Given the description of an element on the screen output the (x, y) to click on. 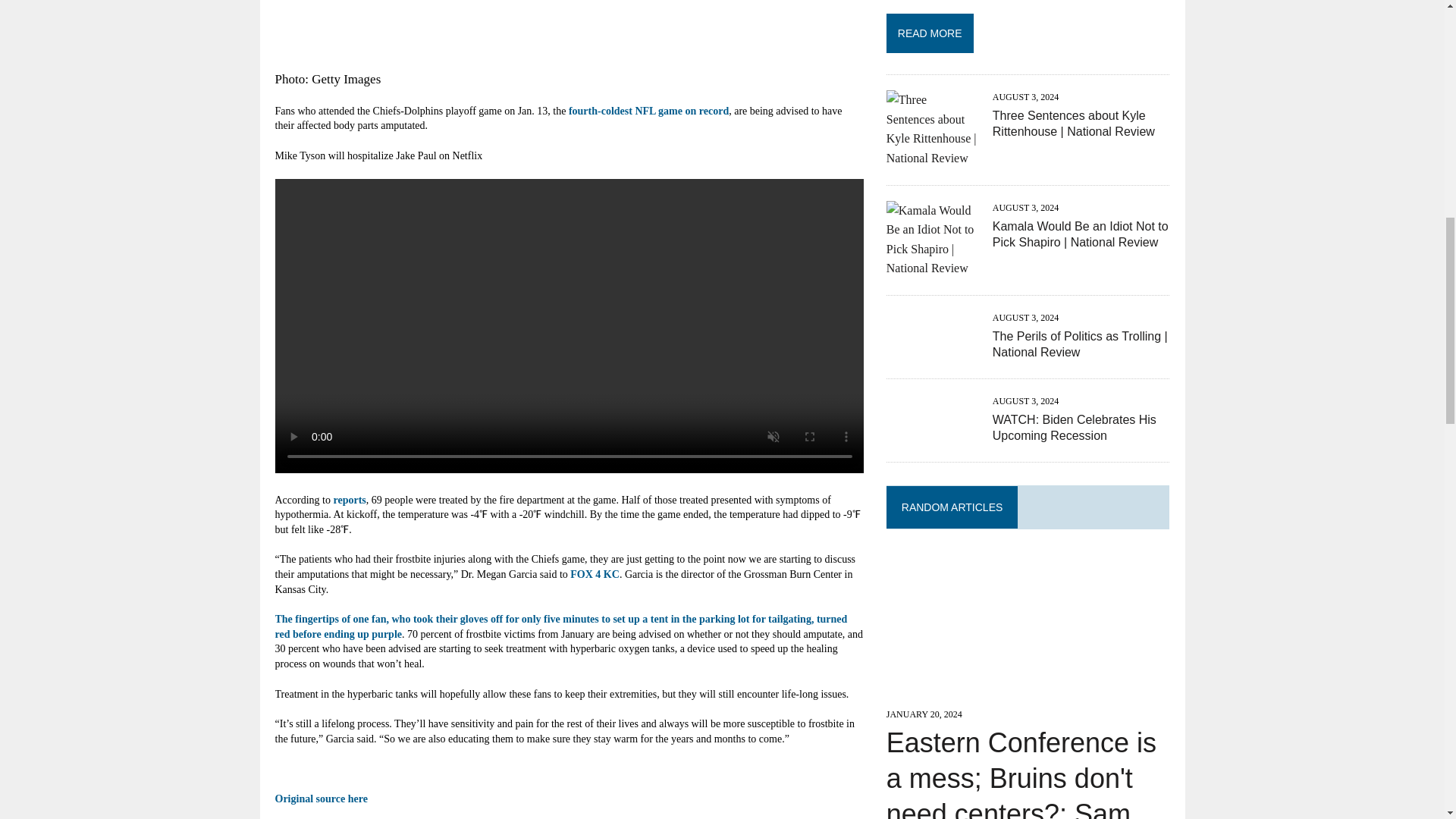
reports (349, 500)
fourth-coldest NFL game on record (649, 111)
